Given the description of an element on the screen output the (x, y) to click on. 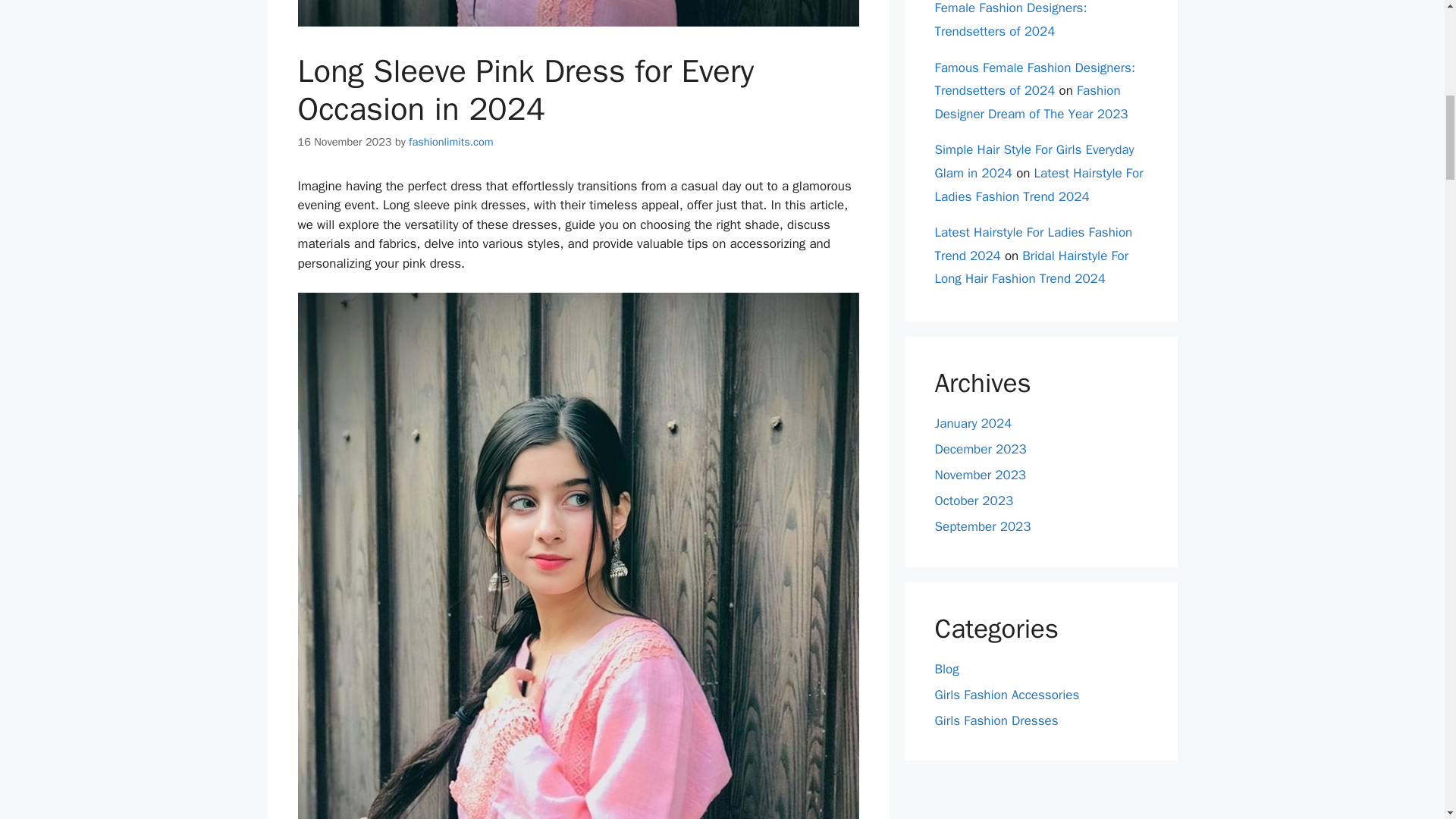
Scroll back to top (1406, 720)
fashionlimits.com (451, 141)
View all posts by fashionlimits.com (451, 141)
